Given the description of an element on the screen output the (x, y) to click on. 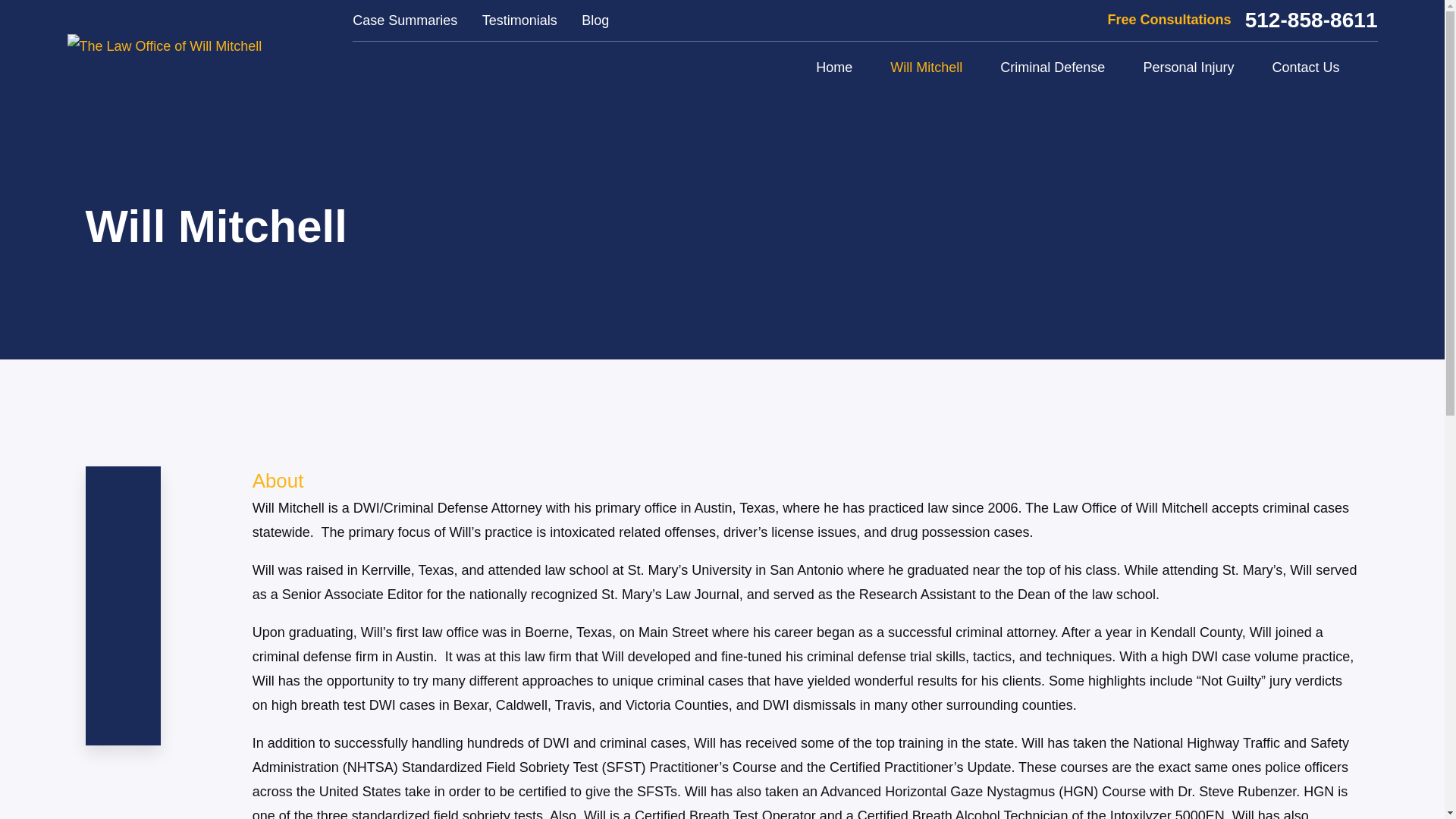
Case Summaries (404, 20)
Blog (594, 20)
Contact Us (1305, 67)
Home (164, 46)
Testimonials (519, 20)
512-858-8611 (1310, 20)
Criminal Defense (1052, 67)
Personal Injury (1187, 67)
Will Mitchell (925, 67)
Home (833, 67)
The Law Office of Will Mitchell (164, 46)
